Given the description of an element on the screen output the (x, y) to click on. 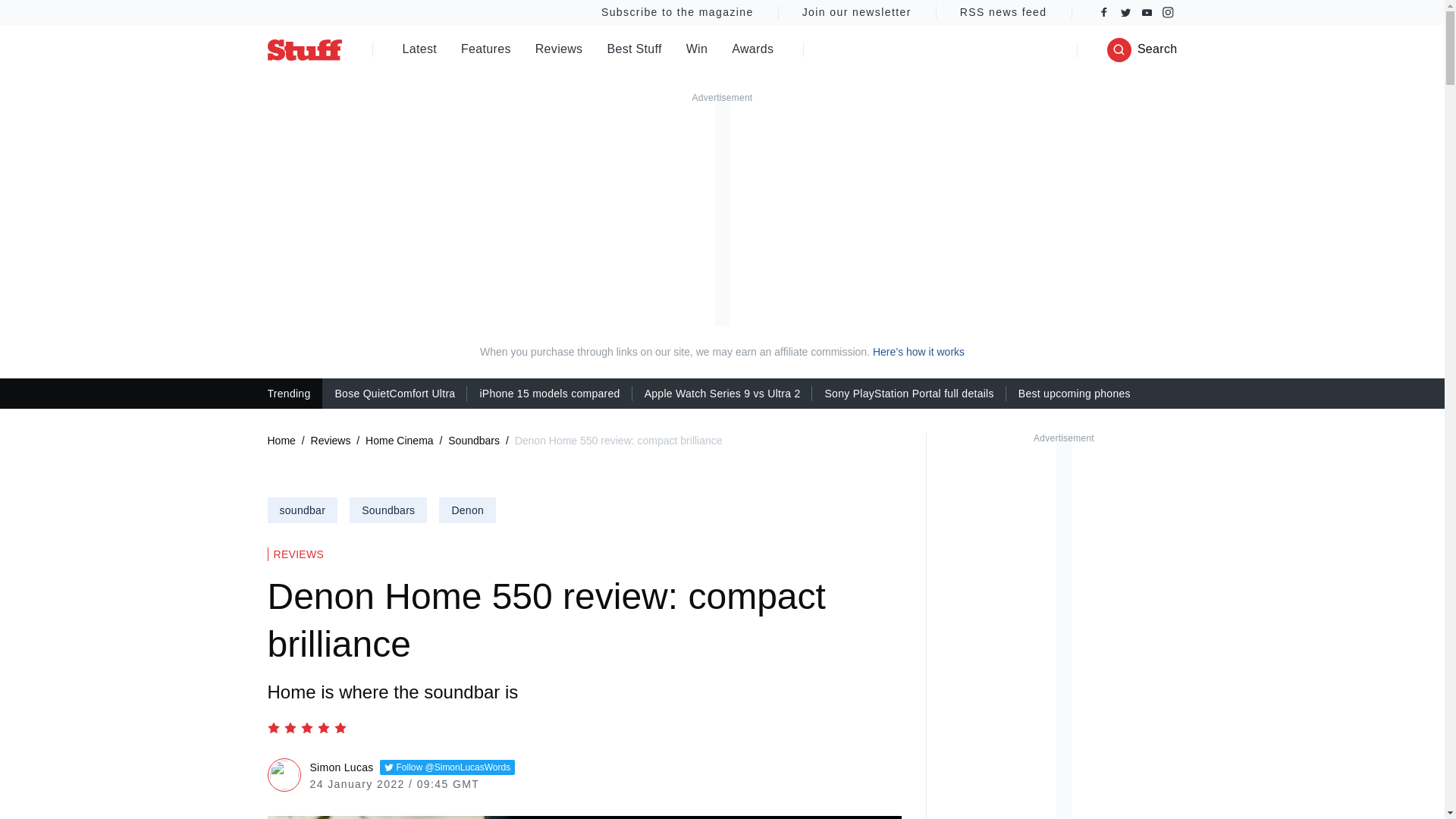
Stuff (303, 49)
Features (486, 50)
Join our newsletter (856, 11)
Bose QuietComfort Ultra (394, 393)
Instagram (1167, 12)
Twitter (1125, 12)
YouTube (1146, 12)
RSS news feed (1003, 11)
Facebook (1103, 12)
Reviews (559, 50)
Latest (418, 50)
Best Stuff (634, 50)
Home (280, 440)
iPhone 15 models compared (549, 393)
Sony PlayStation Portal full details (908, 393)
